Given the description of an element on the screen output the (x, y) to click on. 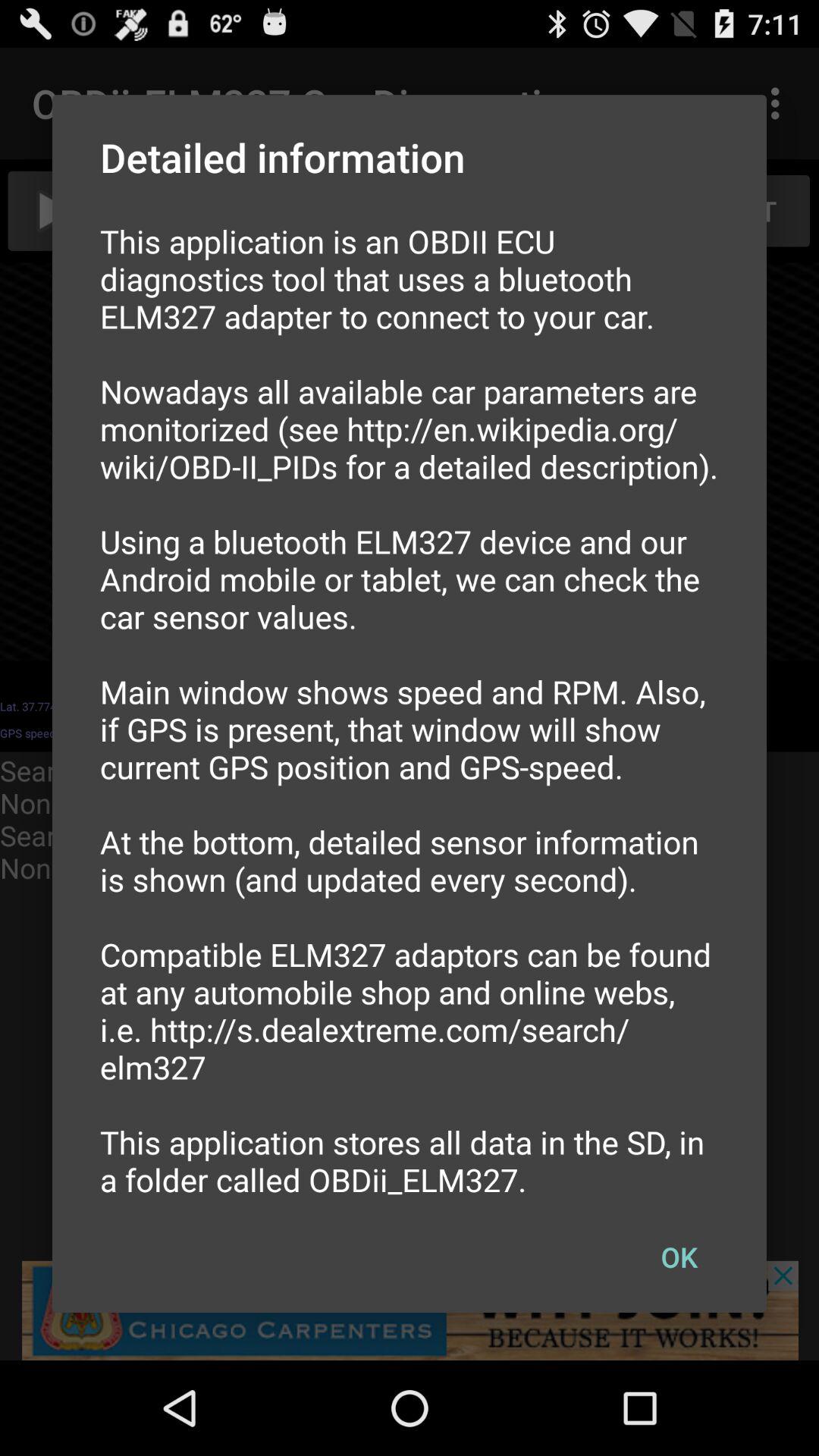
jump to the ok icon (678, 1256)
